Given the description of an element on the screen output the (x, y) to click on. 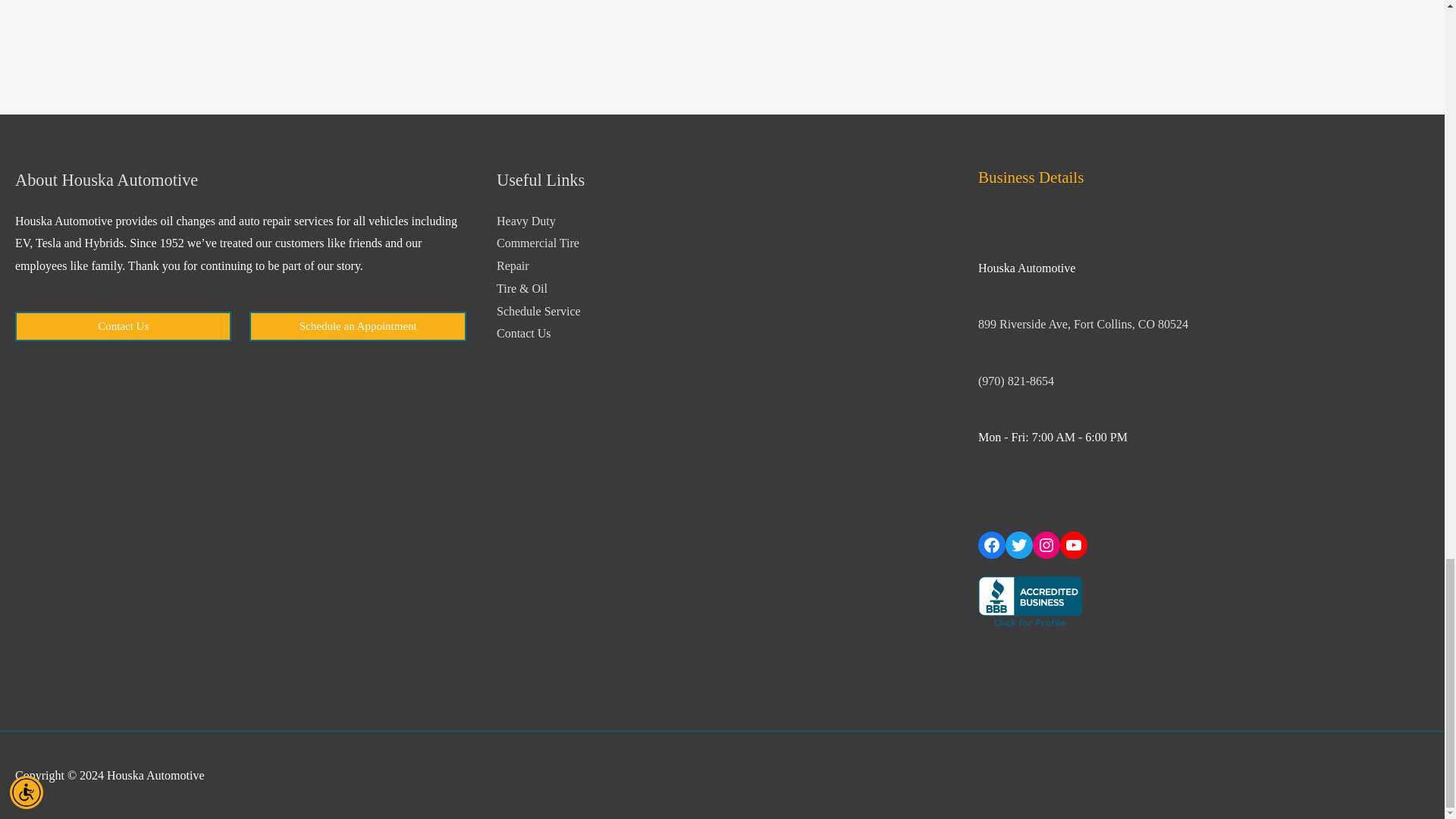
BBB Business Review (1029, 602)
